Given the description of an element on the screen output the (x, y) to click on. 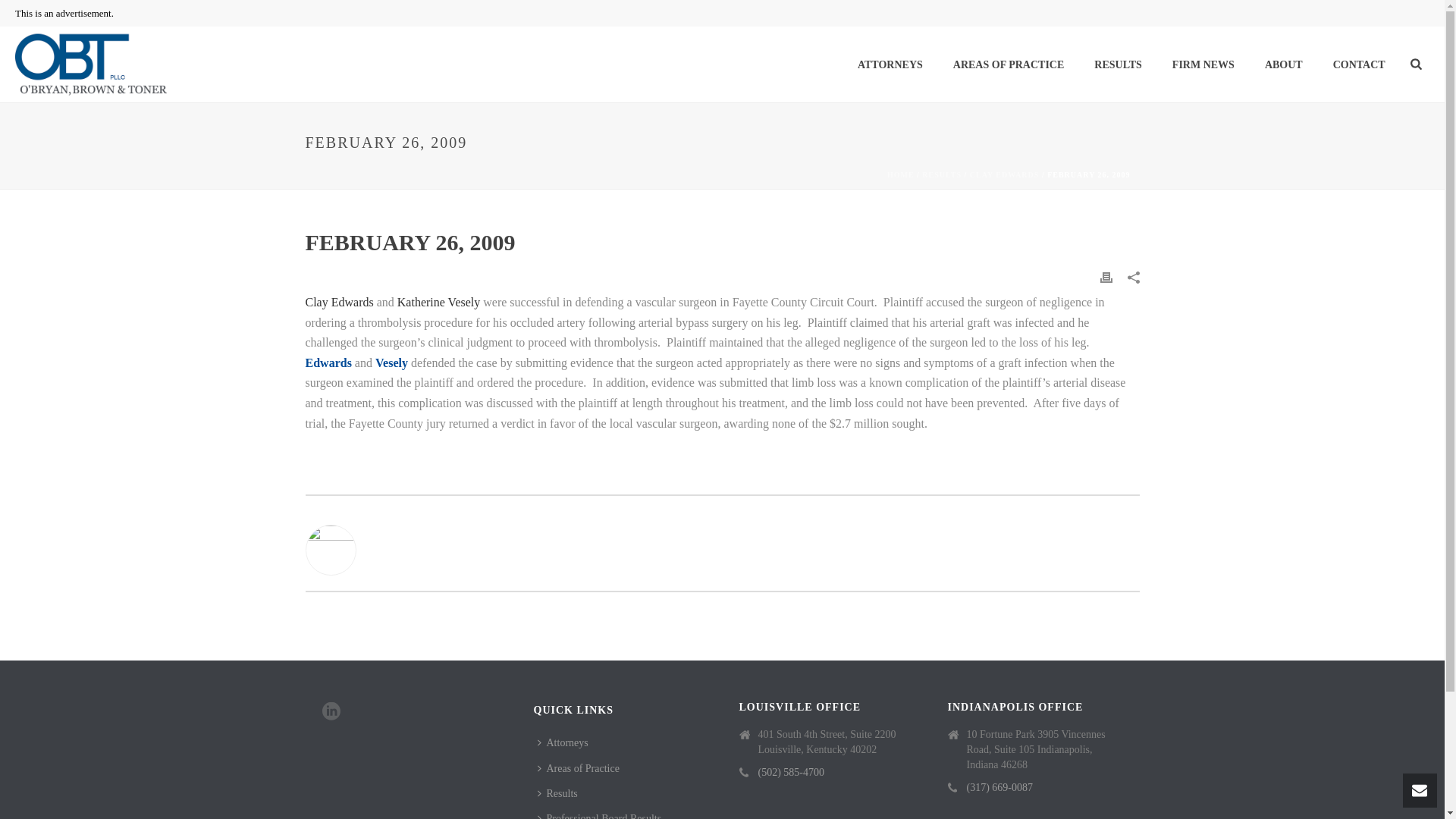
CONTACT (1358, 65)
AREAS OF PRACTICE (1008, 65)
ATTORNEYS (890, 65)
Follow Us on linkedin (330, 711)
RESULTS (1117, 65)
AREAS OF PRACTICE (1008, 65)
ABOUT (1283, 65)
CONTACT (1358, 65)
FIRM NEWS (1203, 65)
ABOUT (1283, 65)
